Given the description of an element on the screen output the (x, y) to click on. 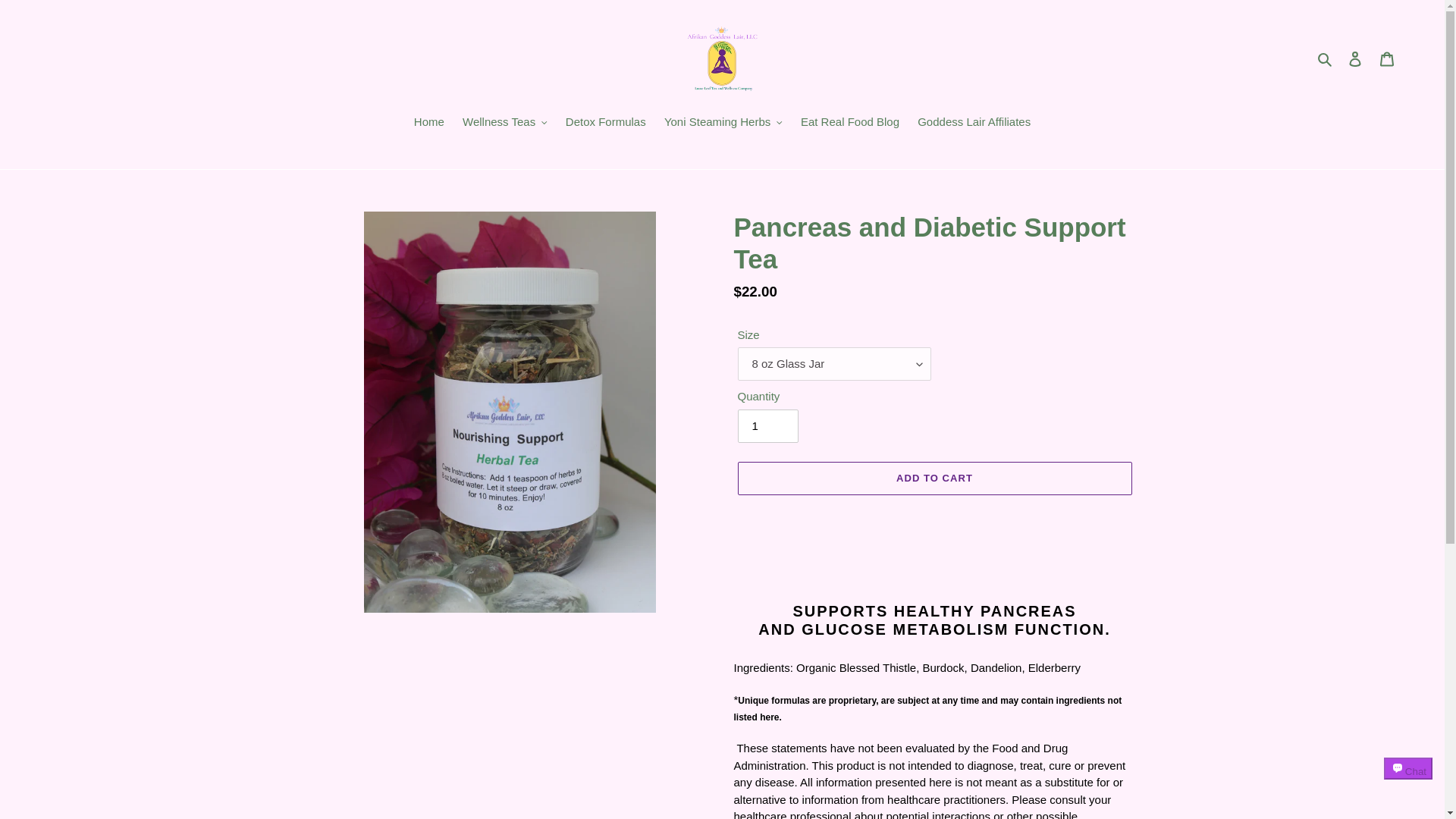
Goddess Lair Affiliates (974, 123)
ADD TO CART (933, 478)
Shopify online store chat (1408, 781)
Home (428, 123)
Eat Real Food Blog (850, 123)
Wellness Teas (504, 123)
Yoni Steaming Herbs (723, 123)
Search (1326, 58)
1 (766, 426)
Cart (1387, 58)
